Given the description of an element on the screen output the (x, y) to click on. 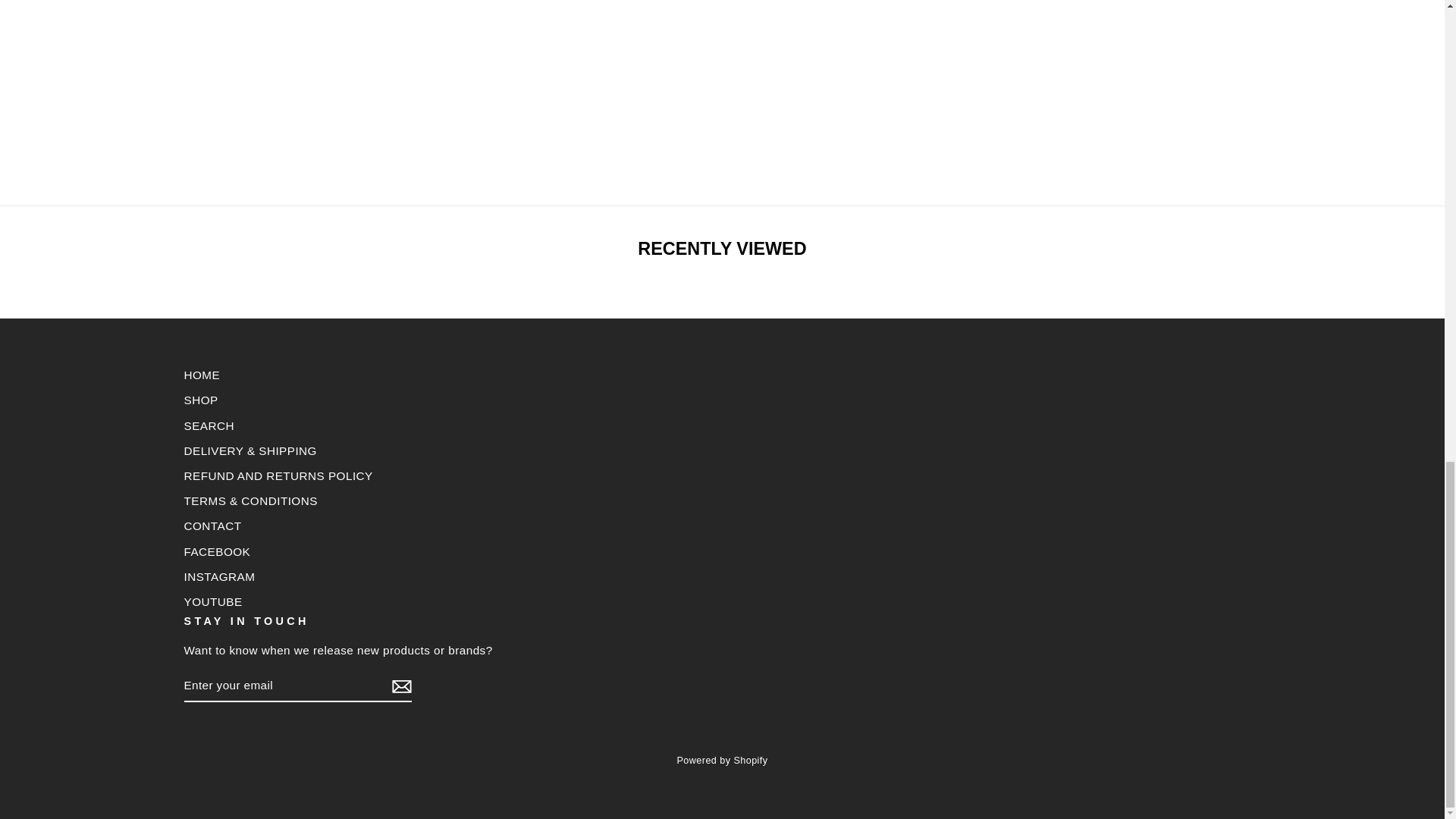
icon-email (400, 686)
REFUND AND RETURNS POLICY (277, 475)
FACEBOOK (216, 551)
SEARCH (207, 425)
CONTACT (212, 526)
SHOP (199, 400)
HOME (201, 374)
